Given the description of an element on the screen output the (x, y) to click on. 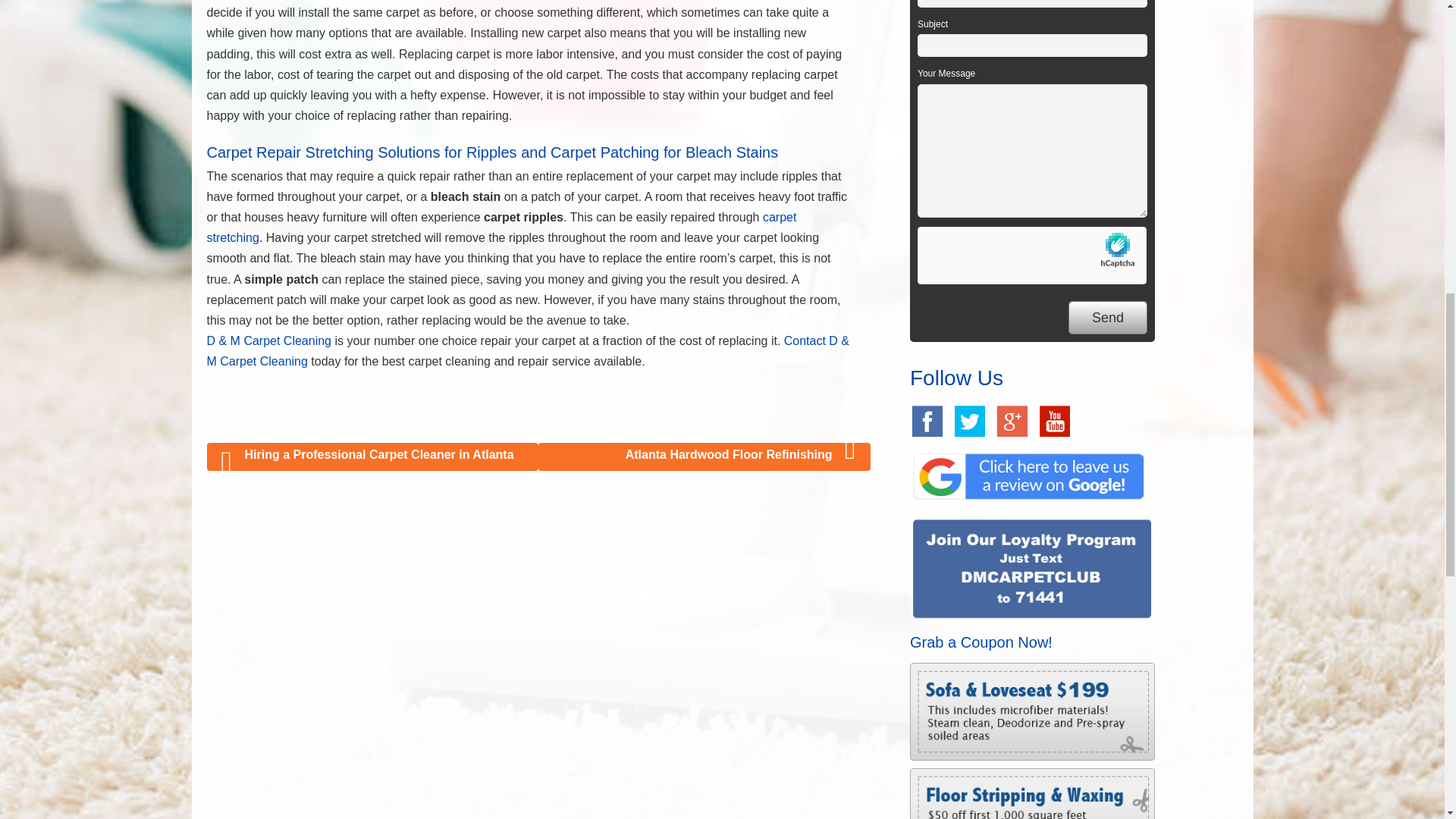
carpet stretching (501, 227)
Atlanta Hardwood Floor Refinishing (704, 456)
Send (1107, 317)
Hiring a Professional Carpet Cleaner in Atlanta (372, 456)
